Given the description of an element on the screen output the (x, y) to click on. 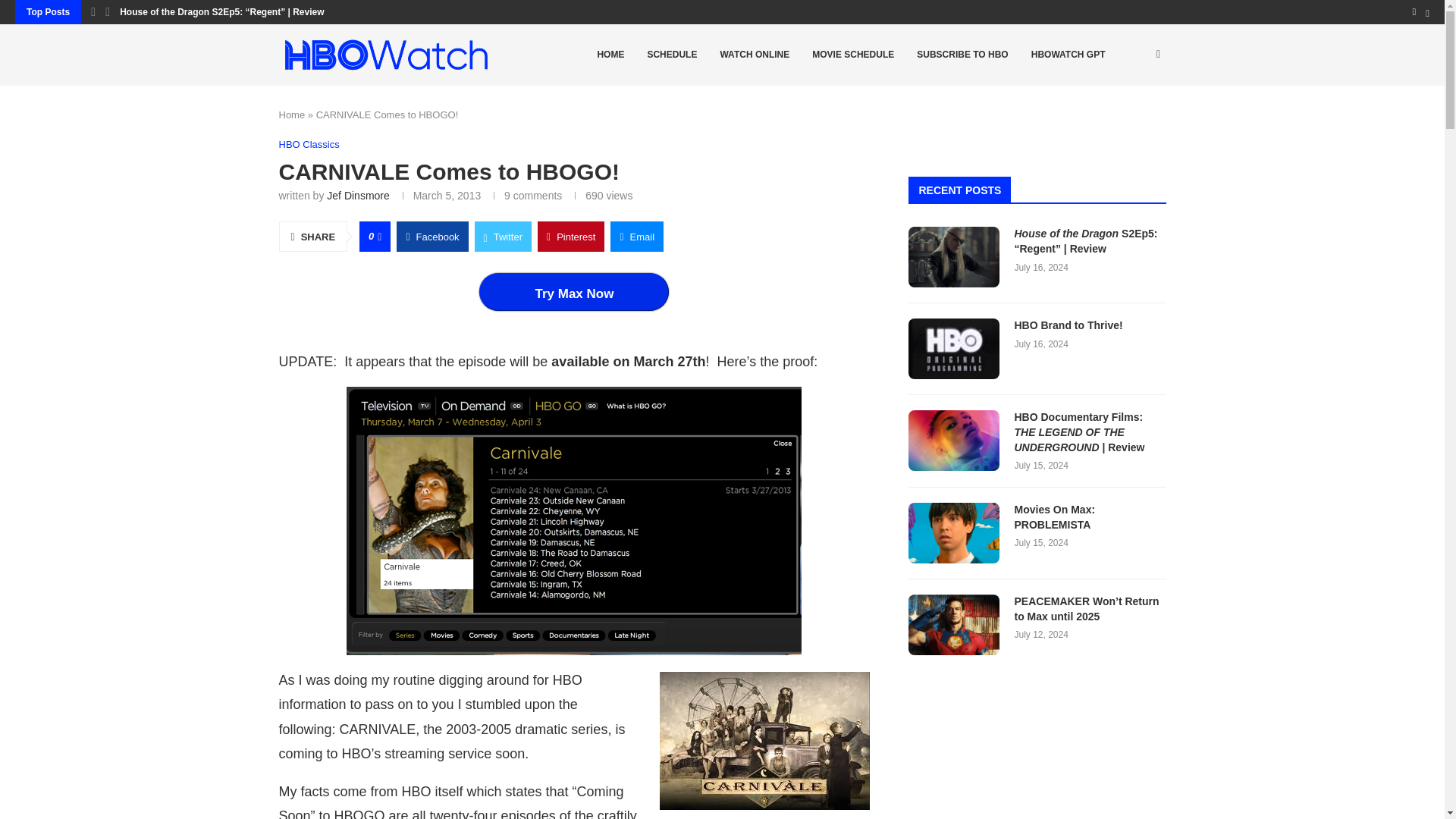
Pinterest (570, 236)
New HBO Movies (852, 54)
Email (636, 236)
SUBSCRIBE TO HBO (962, 54)
WATCH ONLINE (753, 54)
Watch HBO Live (753, 54)
Home (292, 114)
Jef Dinsmore (357, 195)
Try Max Now (573, 291)
HBO Classics (309, 144)
Carnivale-HBOGo (574, 520)
MOVIE SCHEDULE (852, 54)
SCHEDULE (670, 54)
Twitter (502, 236)
Facebook (431, 236)
